Given the description of an element on the screen output the (x, y) to click on. 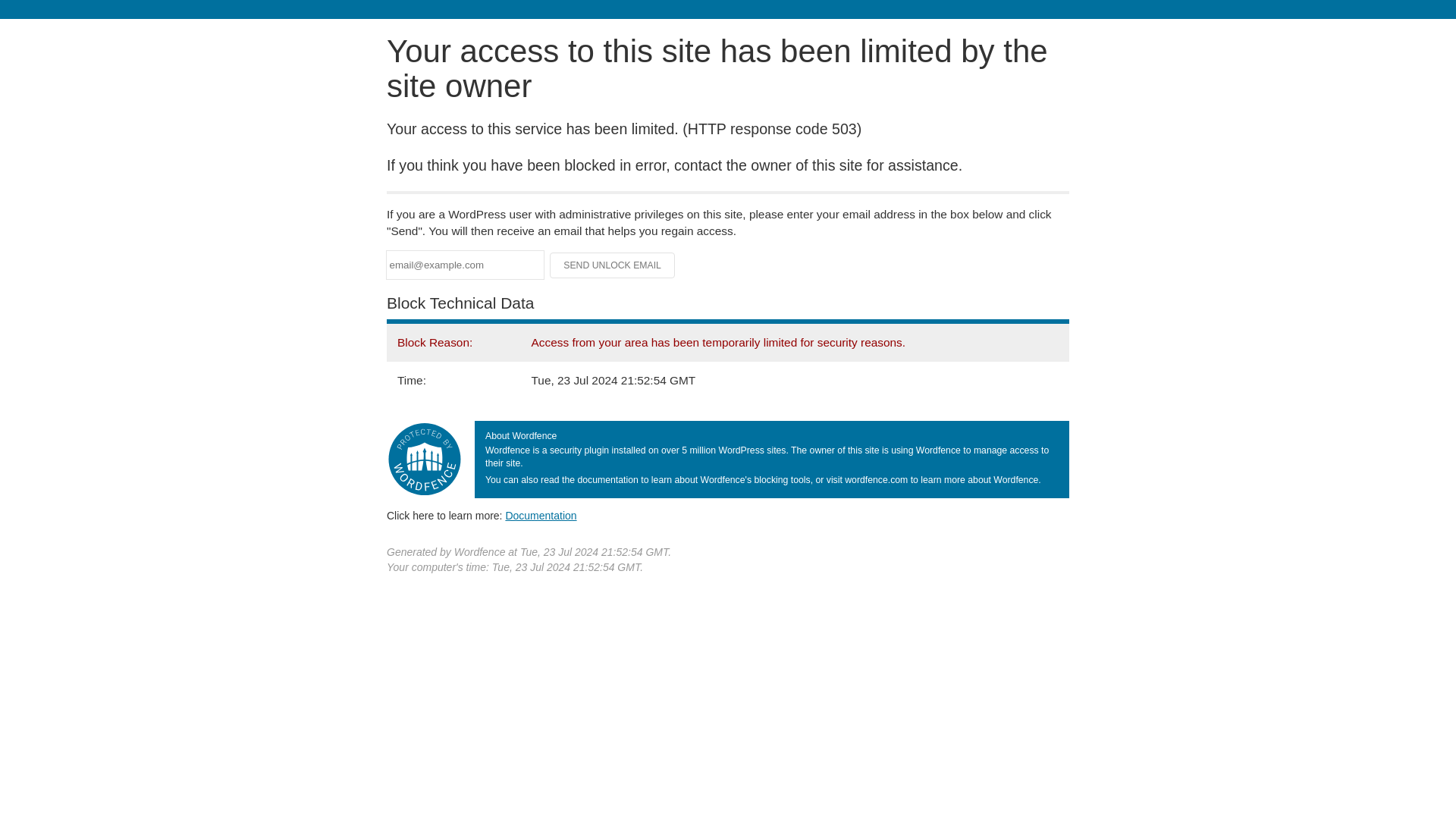
Documentation (540, 515)
Send Unlock Email (612, 265)
Send Unlock Email (612, 265)
